Given the description of an element on the screen output the (x, y) to click on. 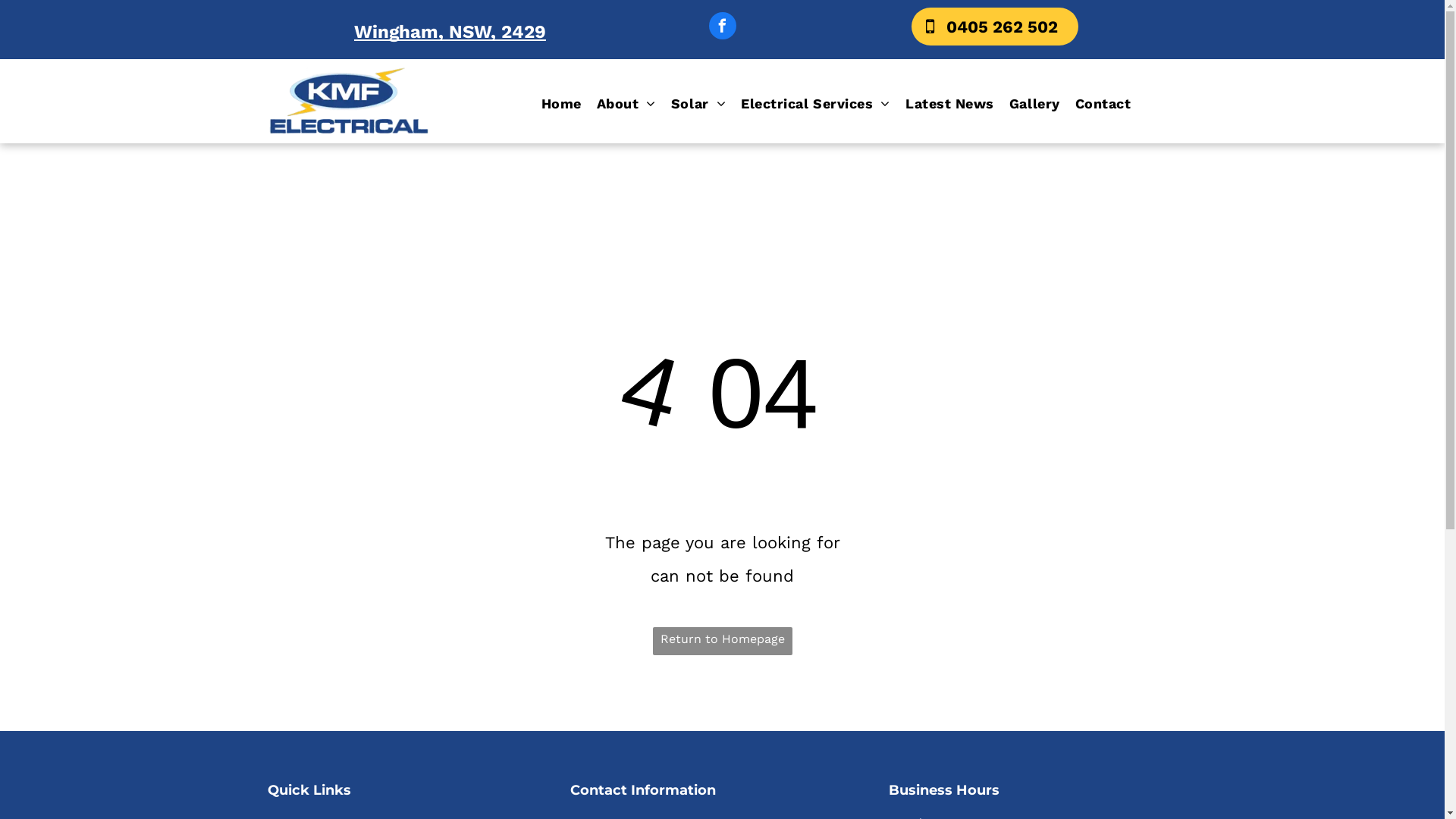
0405 262 502 Element type: text (994, 26)
KMF Electrical & Solar Element type: hover (347, 100)
Return to Homepage Element type: text (721, 640)
Wingham, NSW, 2429 Element type: text (450, 31)
Gallery Element type: text (1034, 103)
About Element type: text (626, 103)
Electrical Services Element type: text (815, 103)
Home Element type: text (561, 103)
Latest News Element type: text (949, 103)
Contact Element type: text (1103, 103)
Solar Element type: text (698, 103)
